Given the description of an element on the screen output the (x, y) to click on. 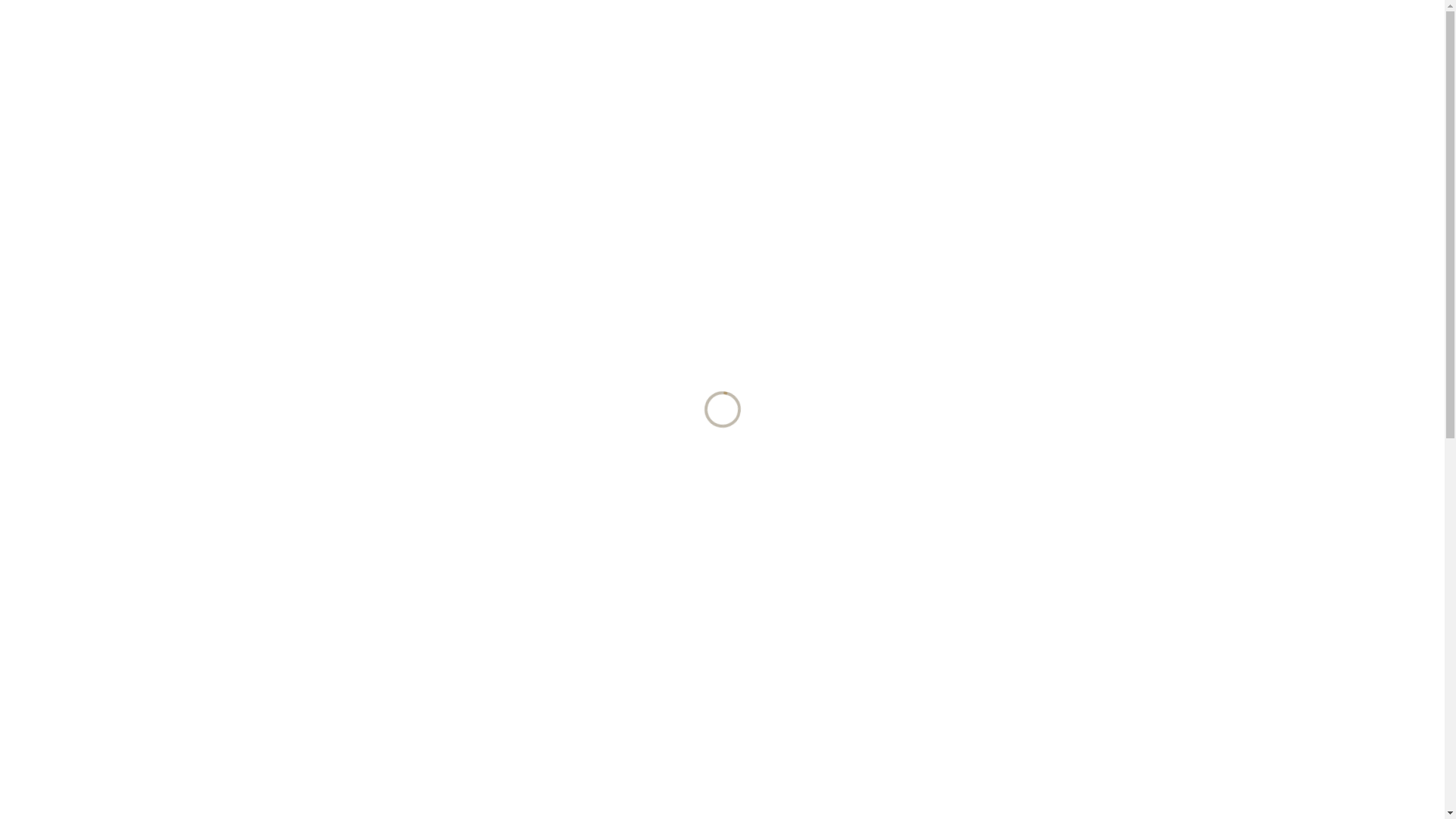
Histoire Element type: text (630, 52)
Contact Element type: text (1010, 52)
Promotions Element type: text (820, 52)
Accueil Element type: text (556, 52)
Vins & Bulles Element type: text (719, 52)
Panier Element type: text (1101, 55)
